Given the description of an element on the screen output the (x, y) to click on. 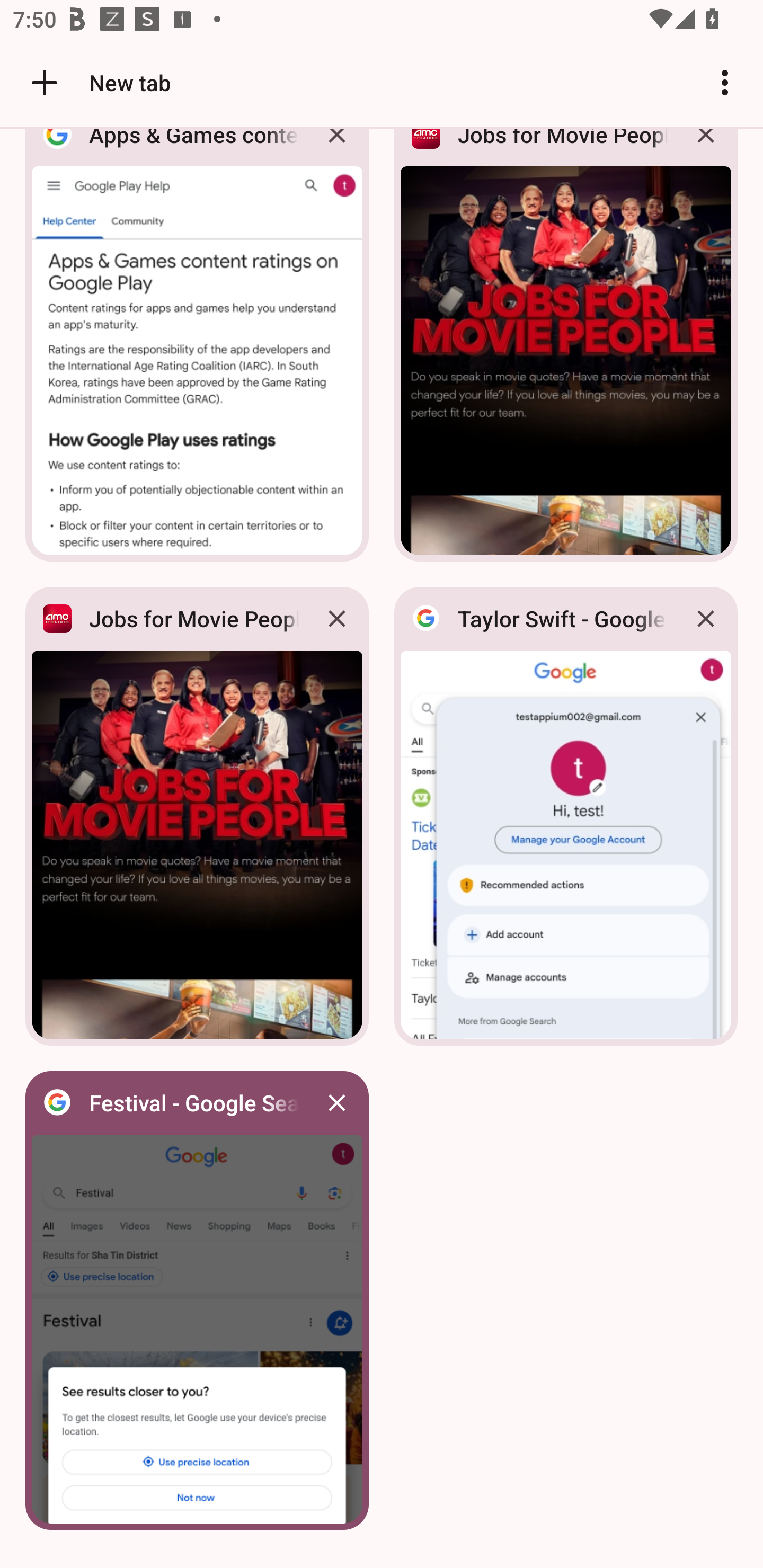
Open the home page (38, 82)
New tab (98, 82)
Customize and control Google Chrome (724, 82)
Close Jobs for Movie People tab (705, 149)
Close Jobs for Movie People tab (337, 618)
Close Taylor Swift - Google Search tab (705, 618)
Close Festival - Google Search tab (337, 1102)
